Given the description of an element on the screen output the (x, y) to click on. 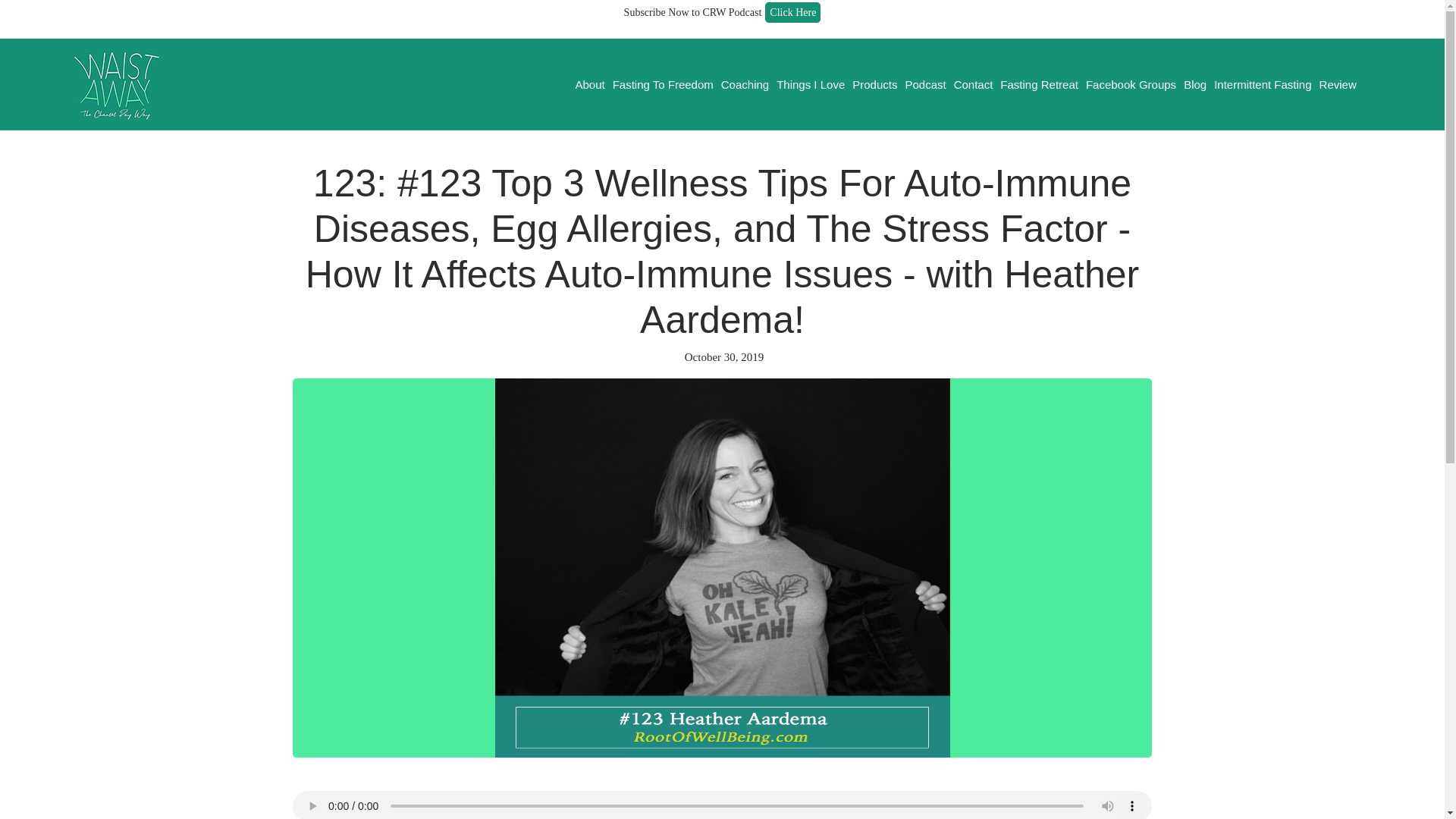
Click Here (793, 12)
About (589, 84)
Coaching (745, 84)
Products (874, 84)
Things I Love (810, 84)
Fasting To Freedom (662, 84)
